Given the description of an element on the screen output the (x, y) to click on. 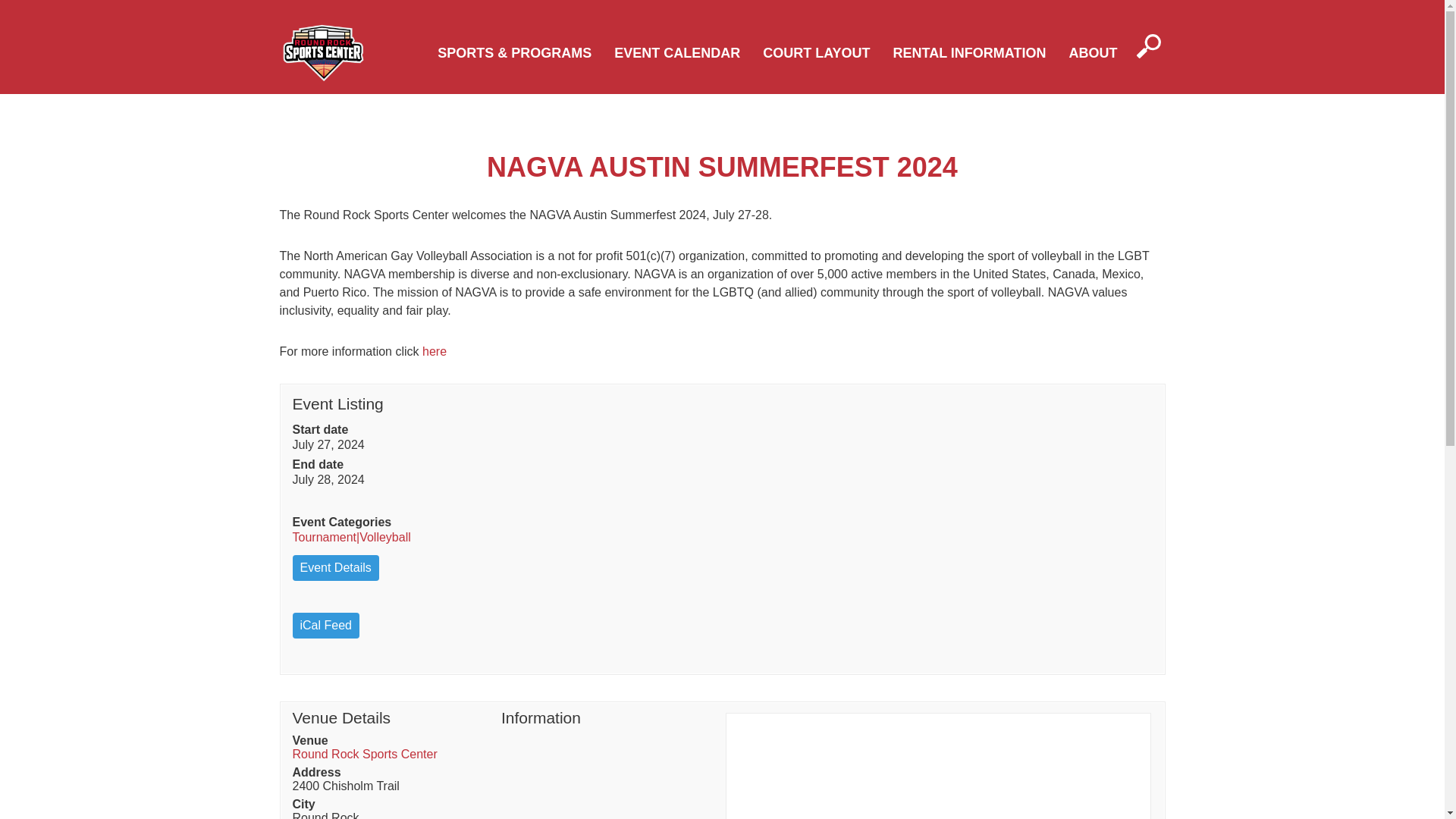
ABOUT (1092, 53)
here (434, 350)
COURT LAYOUT (815, 53)
Search (40, 15)
EVENT CALENDAR (676, 53)
RENTAL INFORMATION (970, 53)
